Given the description of an element on the screen output the (x, y) to click on. 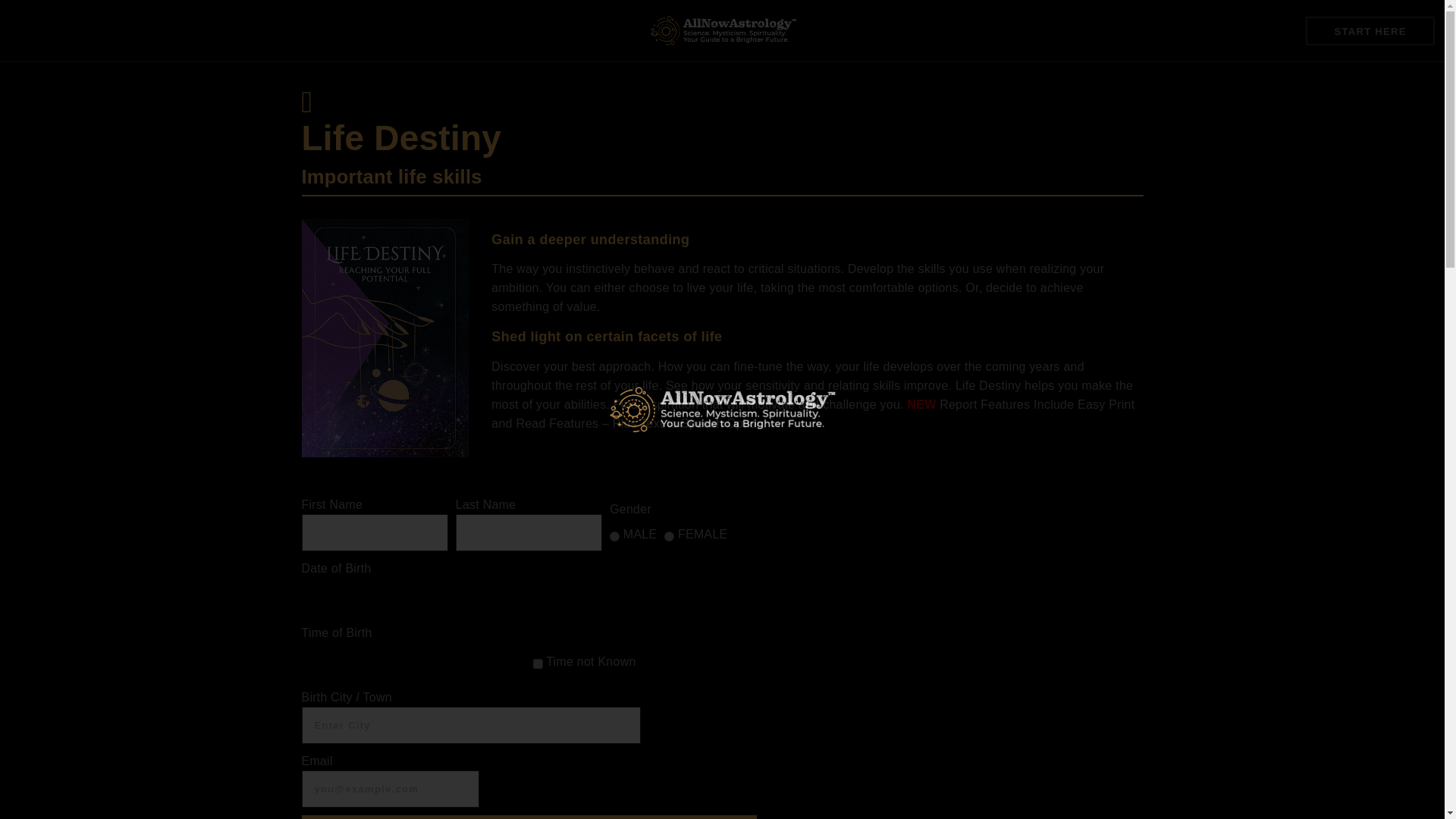
M (615, 536)
true (536, 664)
F (668, 536)
START HERE (1370, 30)
